Given the description of an element on the screen output the (x, y) to click on. 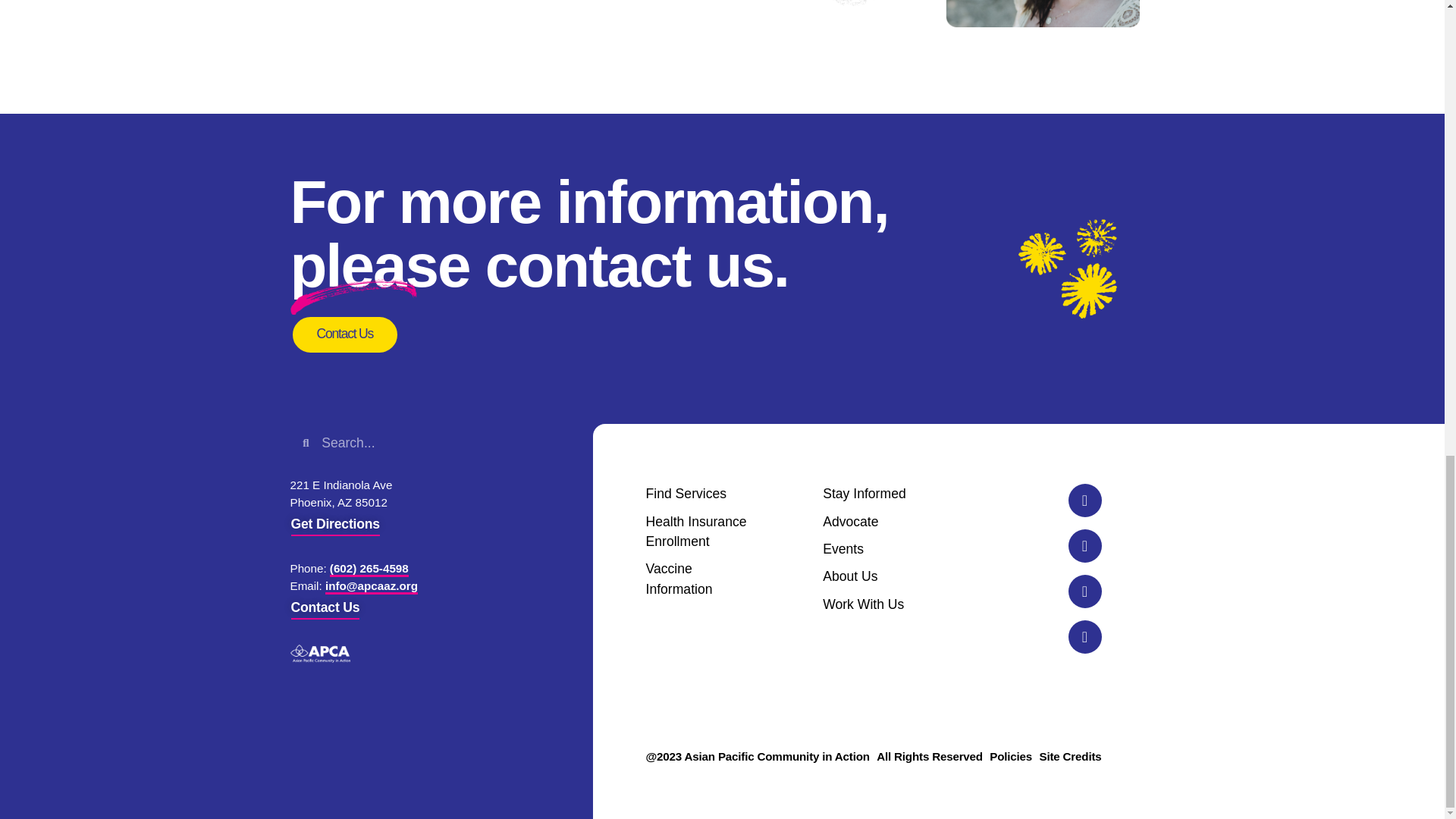
Vaccine Information (697, 578)
Find Services (697, 493)
Work With Us (873, 604)
Contact Us (325, 611)
About Us (873, 576)
Contact Us (343, 334)
Events (873, 548)
Get Directions (335, 528)
Stay Informed (873, 493)
Advocate (873, 521)
